Given the description of an element on the screen output the (x, y) to click on. 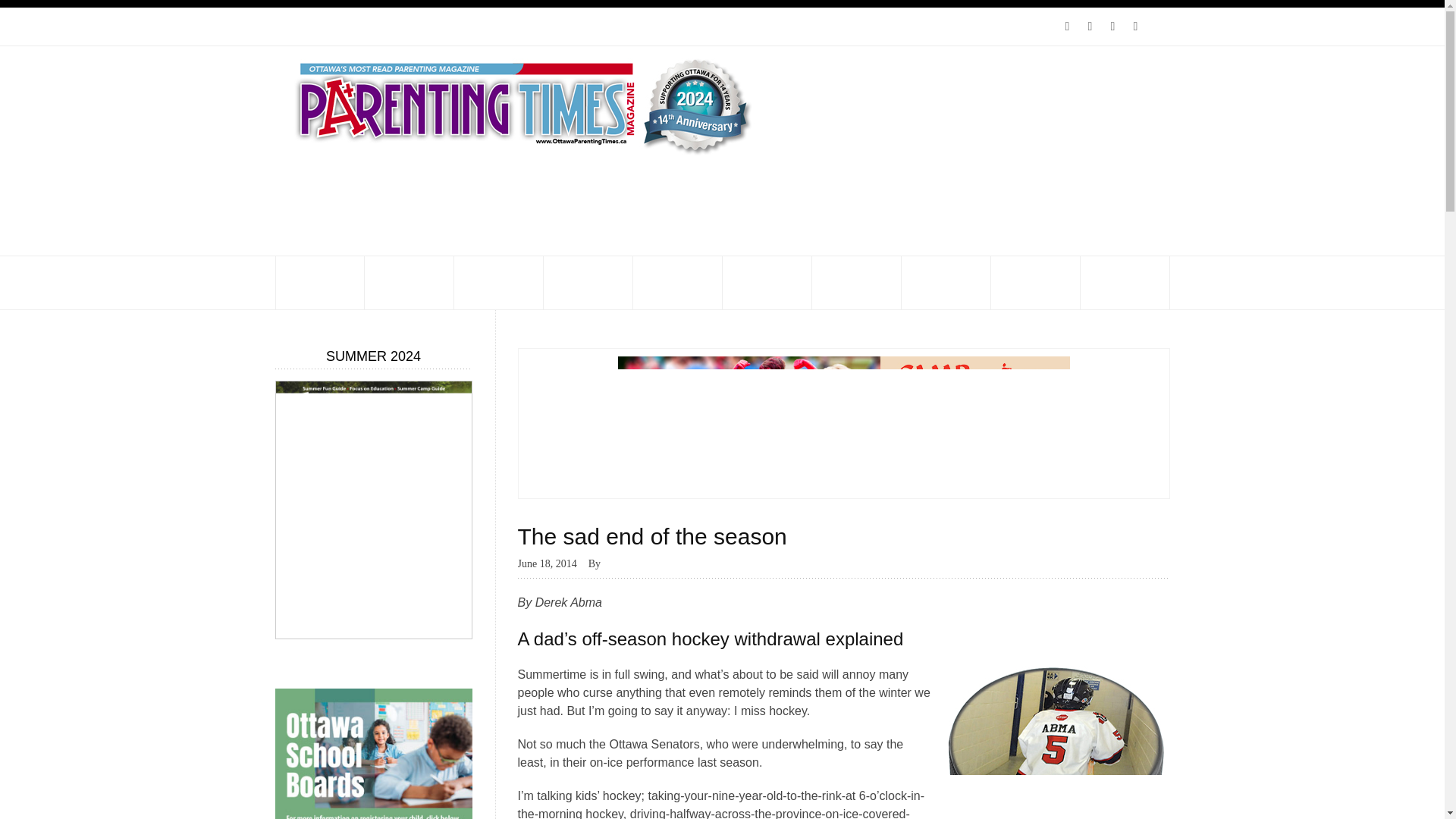
Connect on Instagram (1135, 26)
RSS Feed (1066, 26)
Ottawa Parenting Times Magazine (517, 104)
Advertise with Us (381, 26)
About Us (304, 26)
Connect on Twitter (1089, 26)
Display Search Form (1158, 18)
View all posts by  (605, 563)
Connect on Facebook (1112, 26)
